Given the description of an element on the screen output the (x, y) to click on. 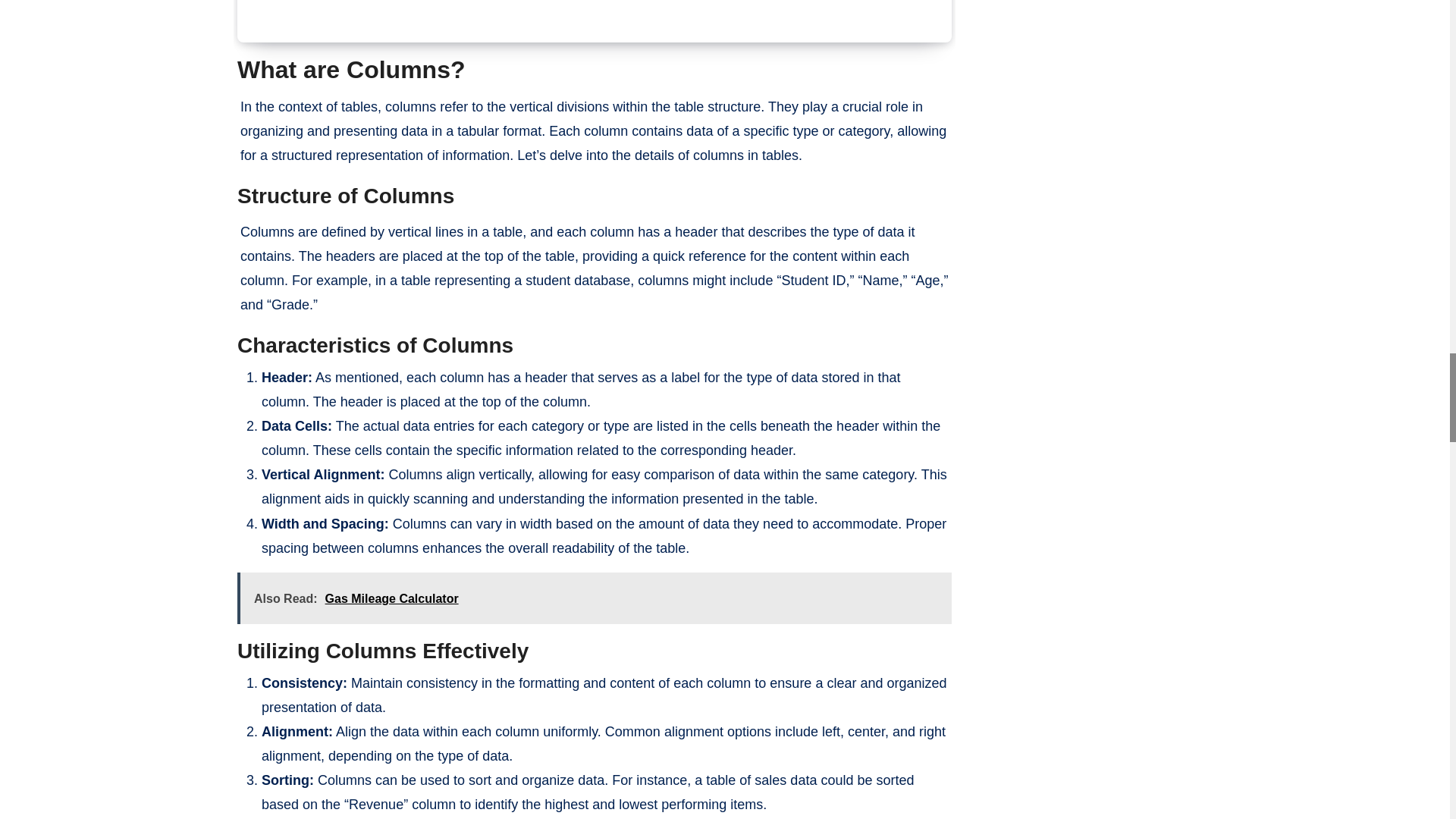
Also Read:  Gas Mileage Calculator (594, 598)
